Given the description of an element on the screen output the (x, y) to click on. 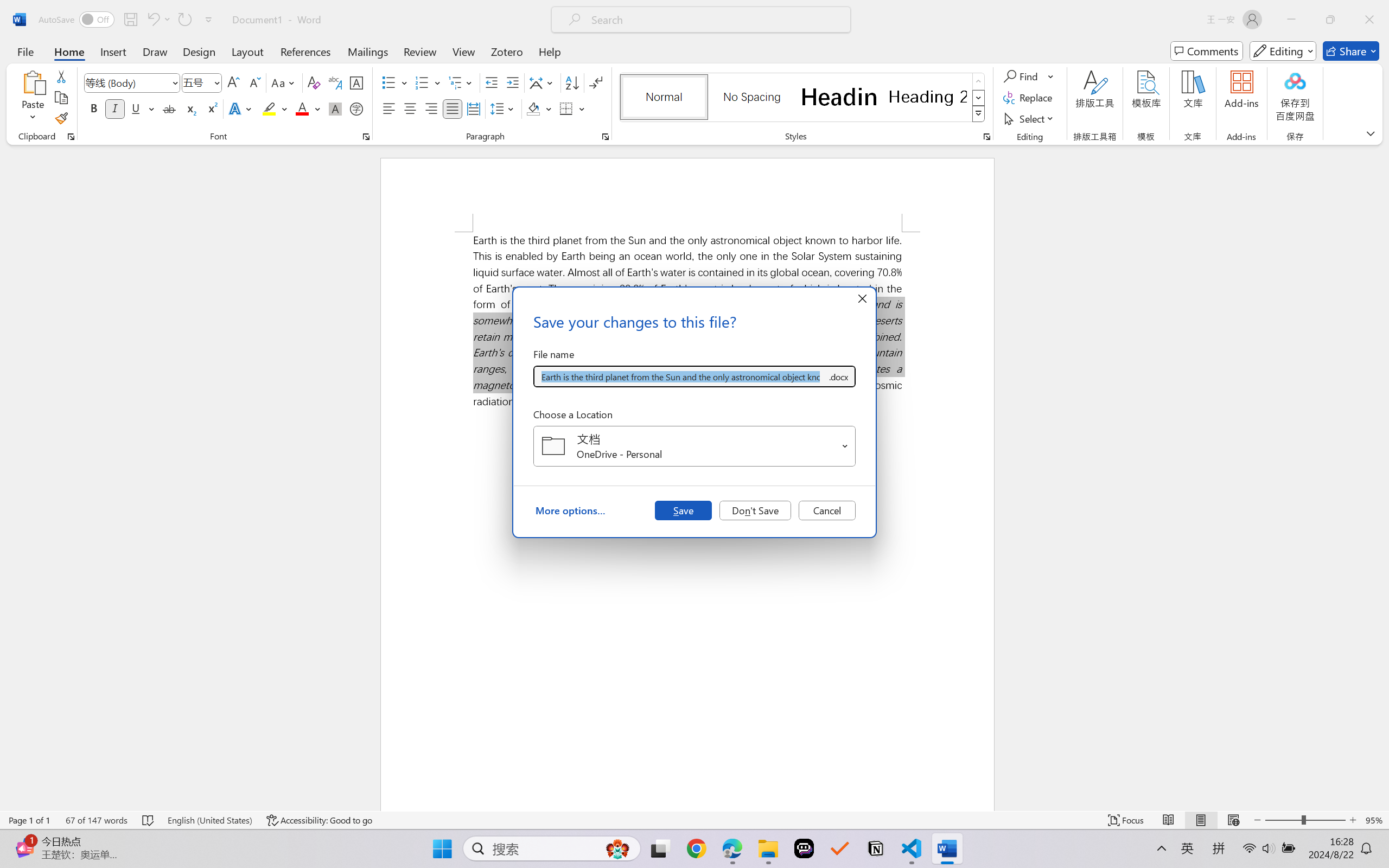
Notion (875, 848)
Select (1030, 118)
Class: NetUIScrollBar (1382, 477)
Change Case (284, 82)
Replace... (1029, 97)
